Given the description of an element on the screen output the (x, y) to click on. 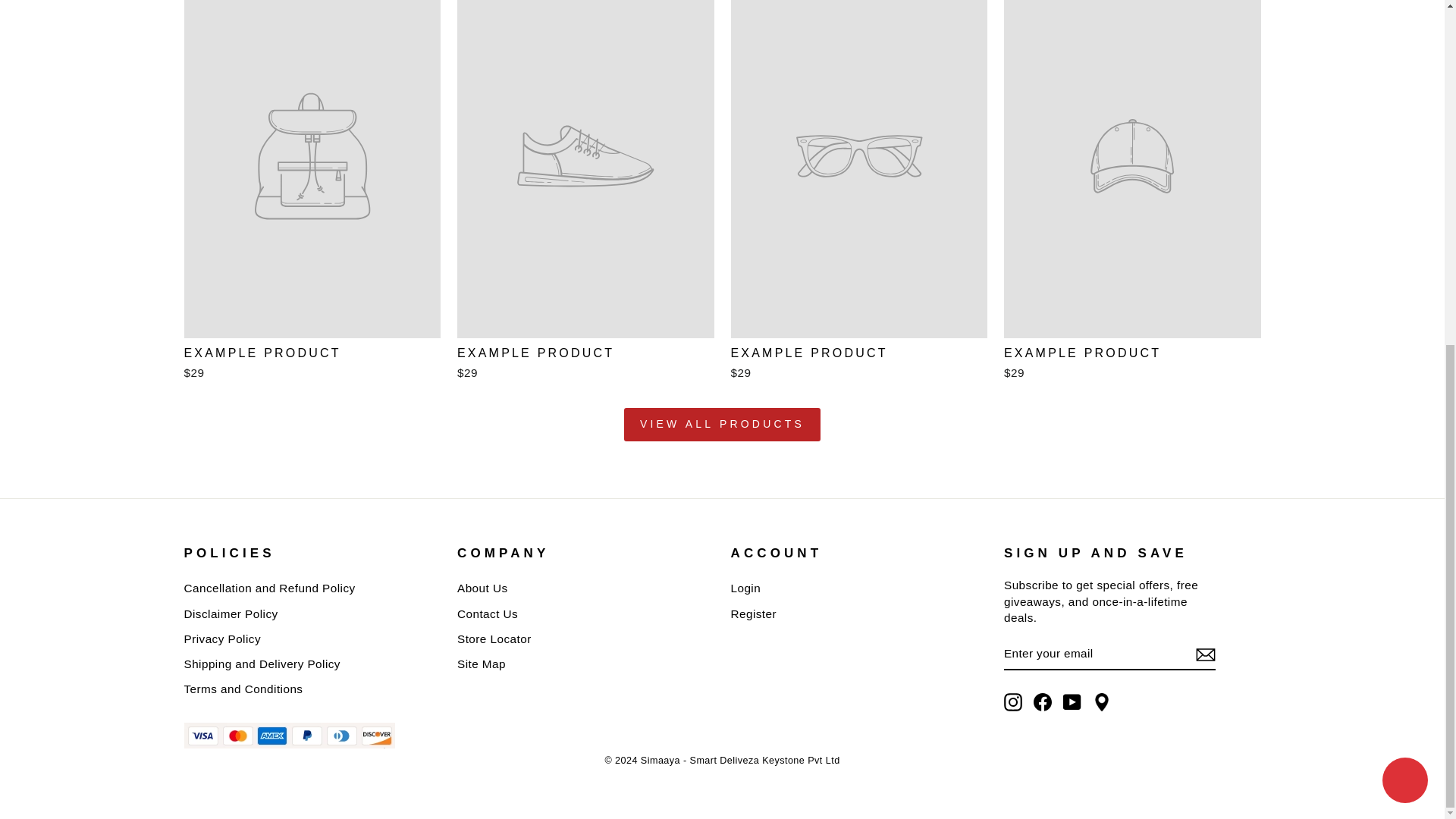
Simaaya on YouTube (1071, 701)
Simaaya on Instagram (1013, 701)
Simaaya on Facebook (1042, 701)
Shopify online store chat (1404, 191)
